Given the description of an element on the screen output the (x, y) to click on. 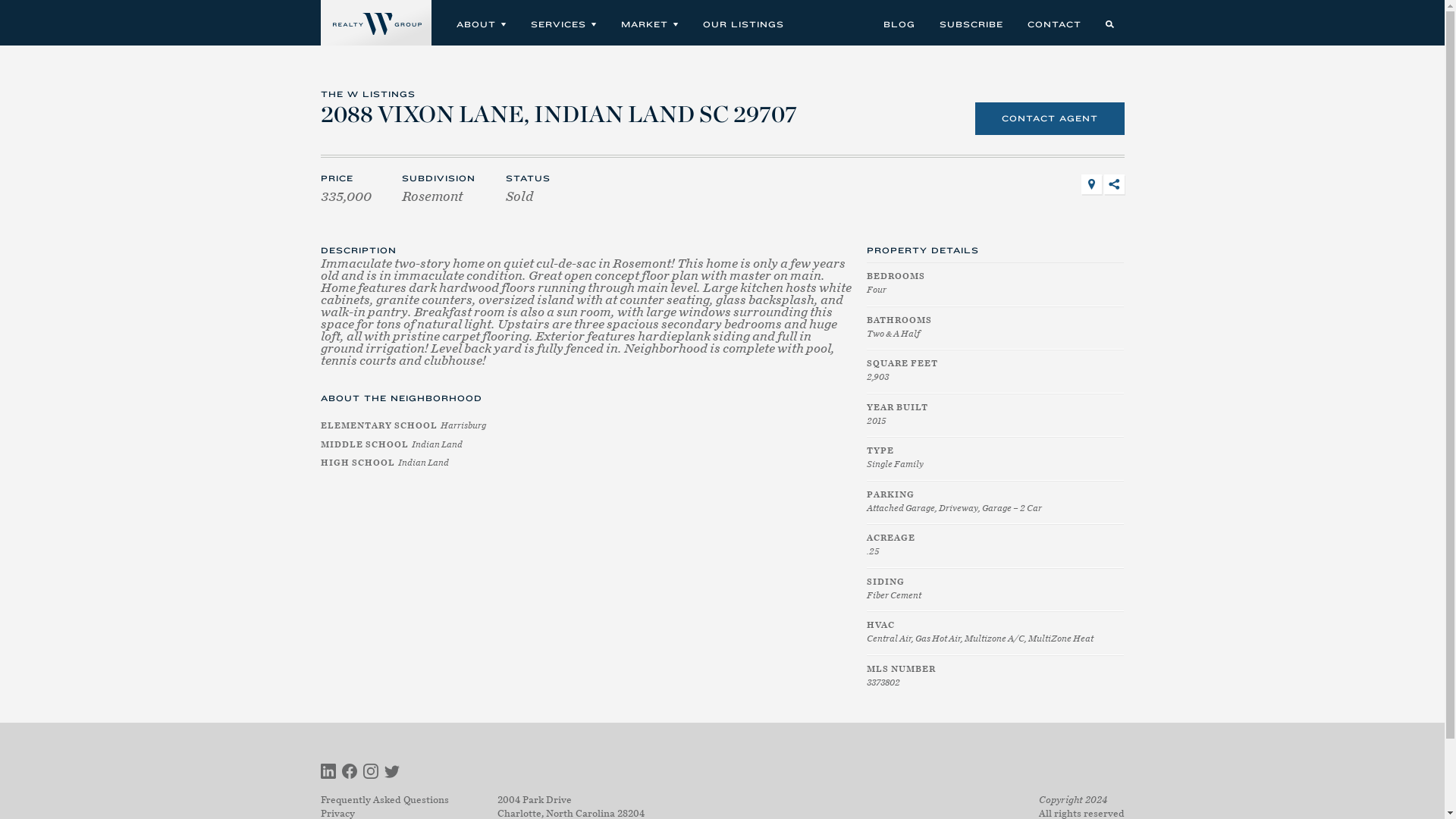
SERVICES (561, 22)
OUR LISTINGS (740, 22)
ABOUT (479, 22)
MARKET (647, 22)
Share (1113, 184)
Frequently Asked Questions (384, 799)
BLOG (896, 22)
Privacy (336, 813)
CONTACT (1051, 22)
W Realty Group (375, 22)
CONTACT AGENT (1049, 118)
Map (1091, 184)
SUBSCRIBE (968, 22)
